Given the description of an element on the screen output the (x, y) to click on. 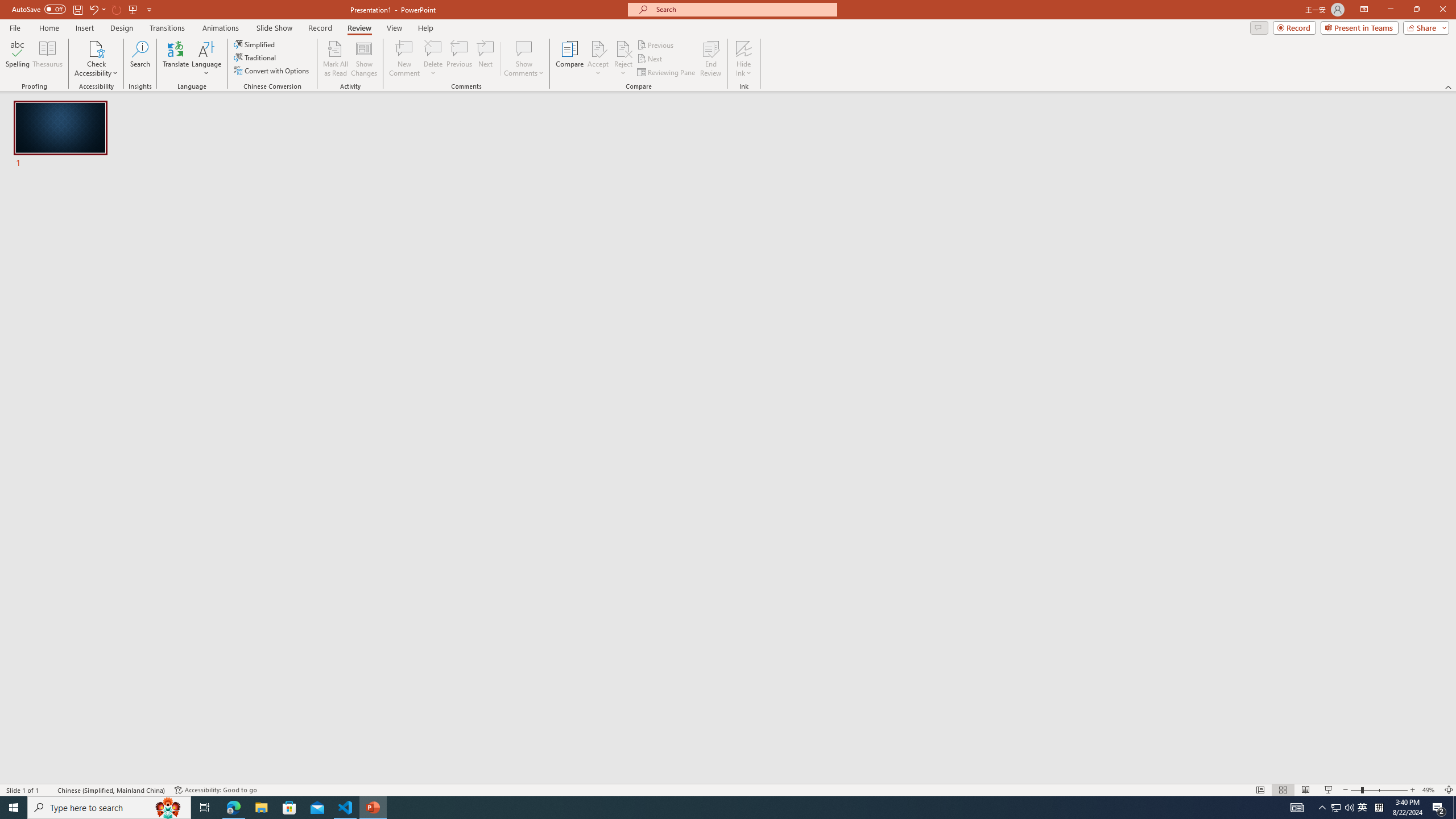
Reviewing Pane (666, 72)
Previous (655, 44)
Show Comments (524, 48)
Search (140, 58)
Delete (432, 58)
Check Accessibility (95, 48)
